Given the description of an element on the screen output the (x, y) to click on. 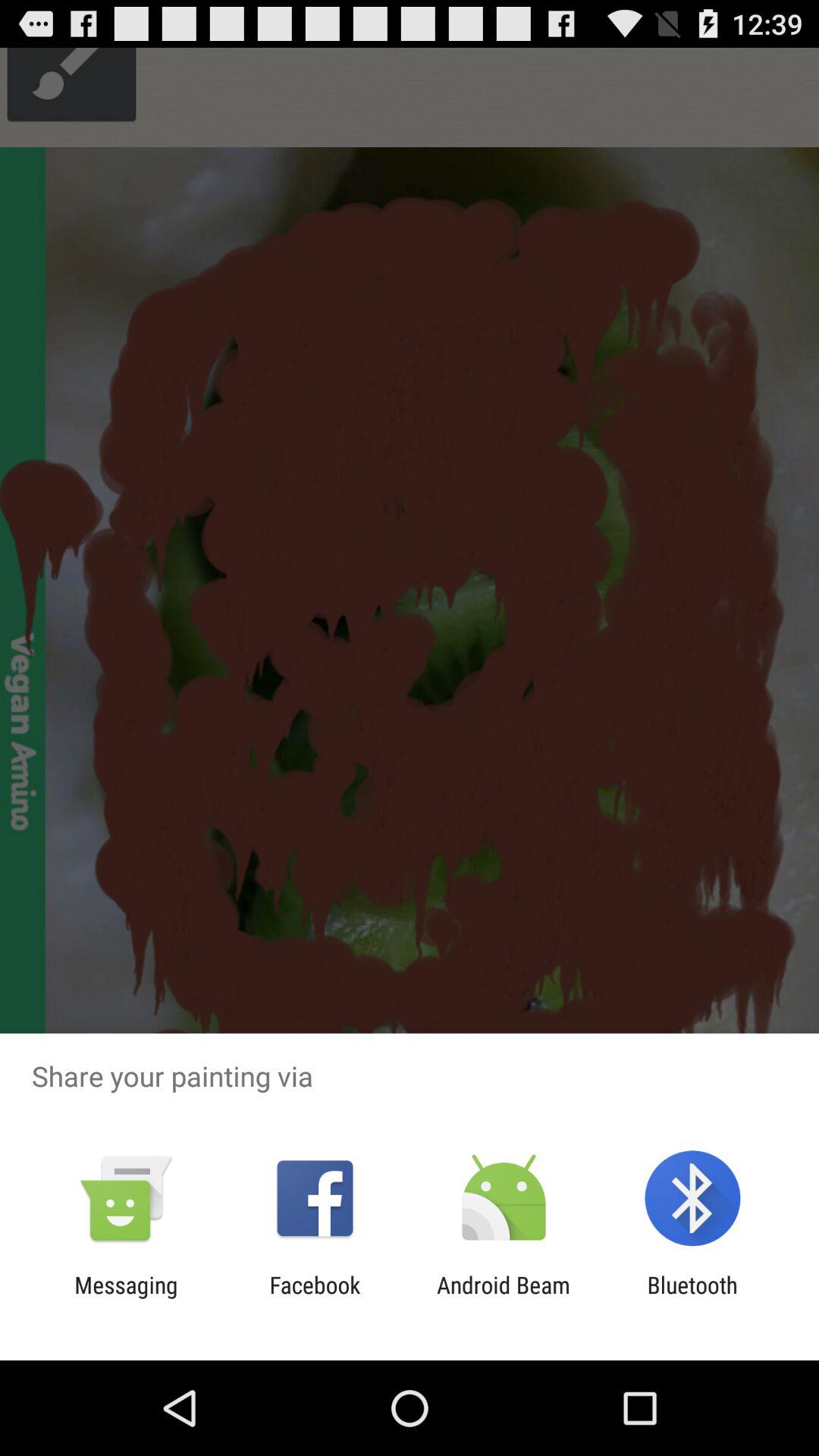
tap bluetooth icon (692, 1298)
